Given the description of an element on the screen output the (x, y) to click on. 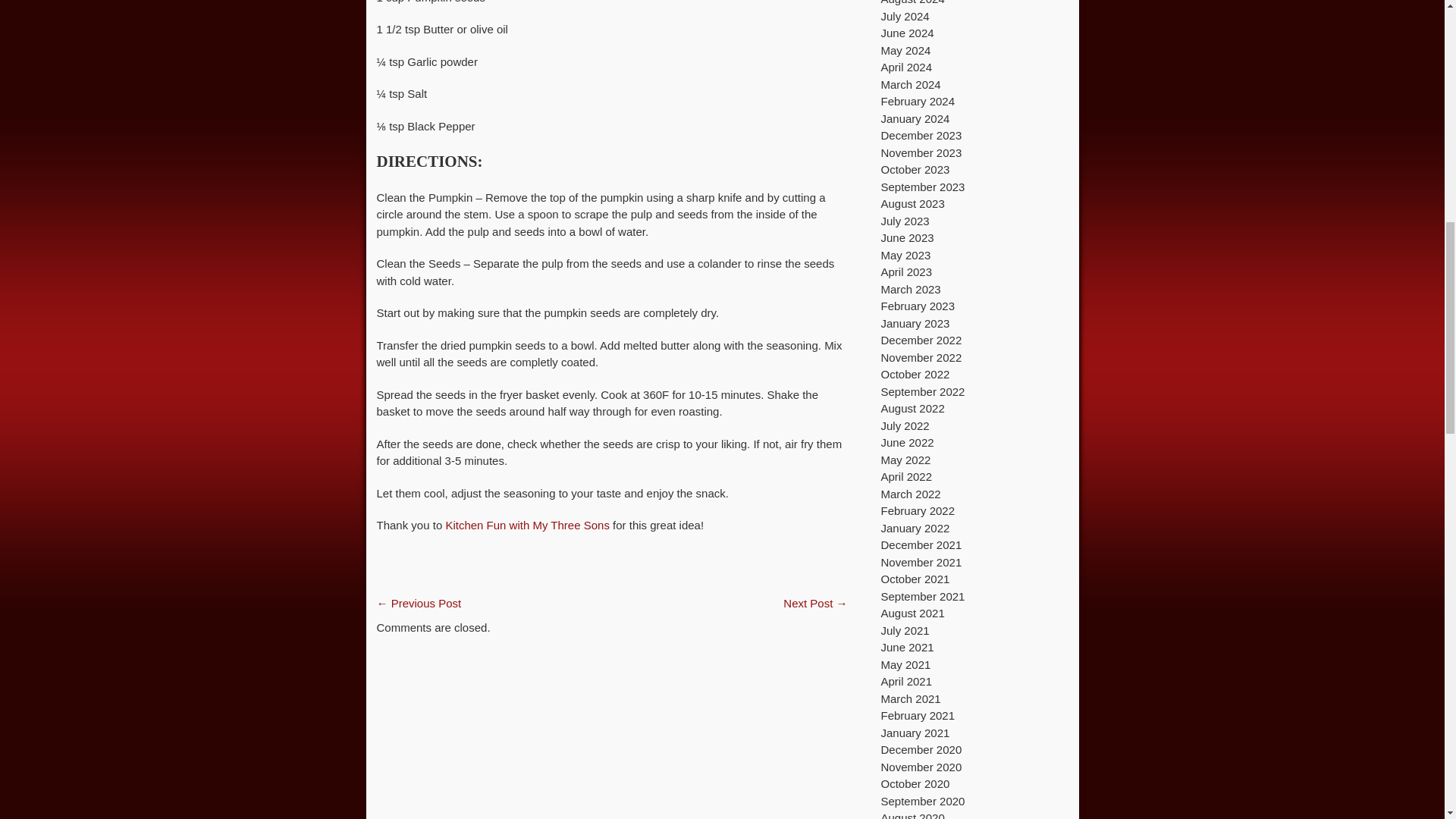
August 2024 (912, 2)
Kitchen Fun with My Three Sons (527, 524)
February 2024 (917, 101)
December 2023 (921, 134)
June 2024 (907, 32)
November 2023 (921, 151)
October 2023 (915, 169)
January 2024 (915, 118)
August 2023 (912, 203)
April 2024 (906, 66)
